Given the description of an element on the screen output the (x, y) to click on. 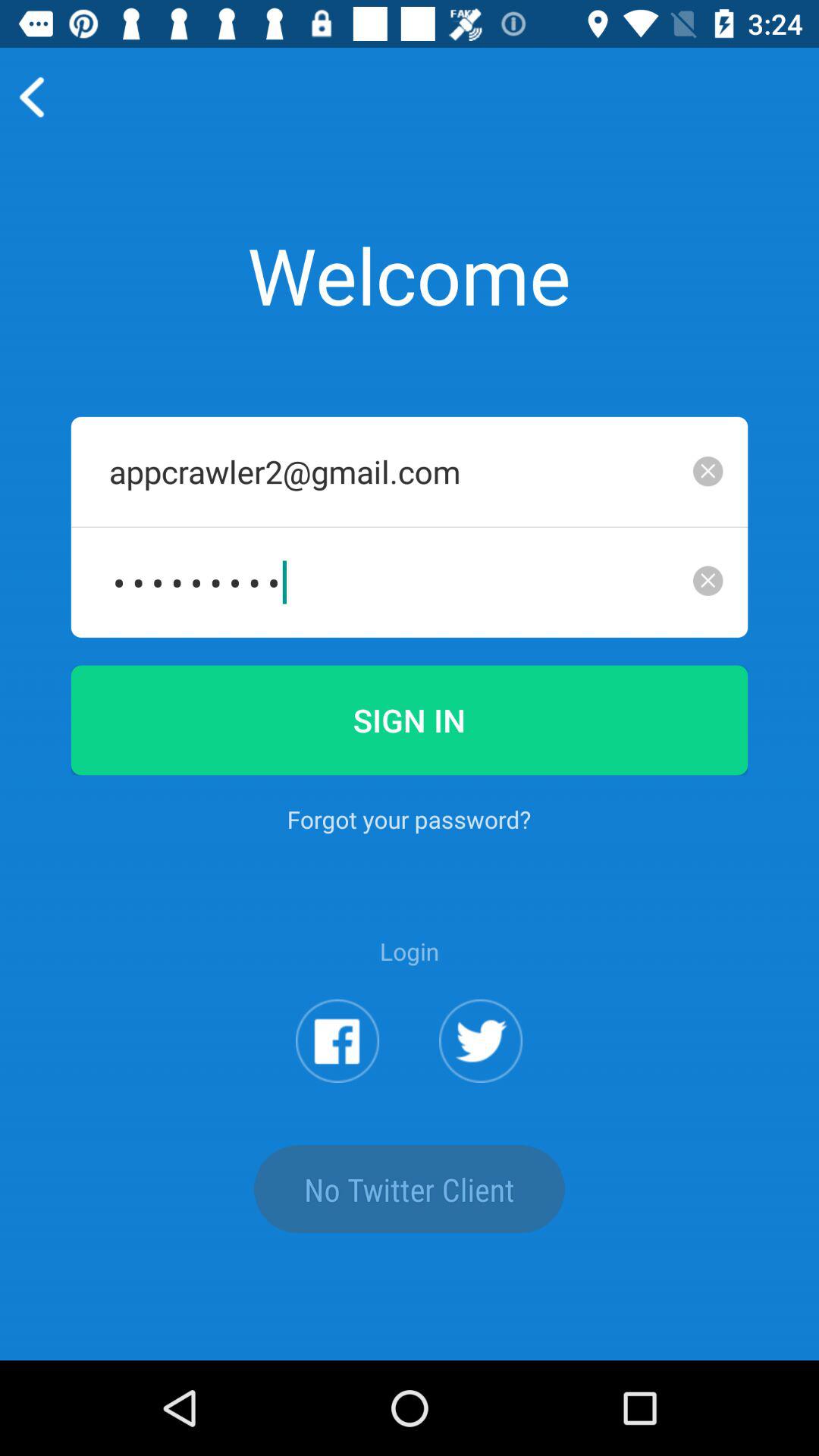
delete email address (708, 471)
